Given the description of an element on the screen output the (x, y) to click on. 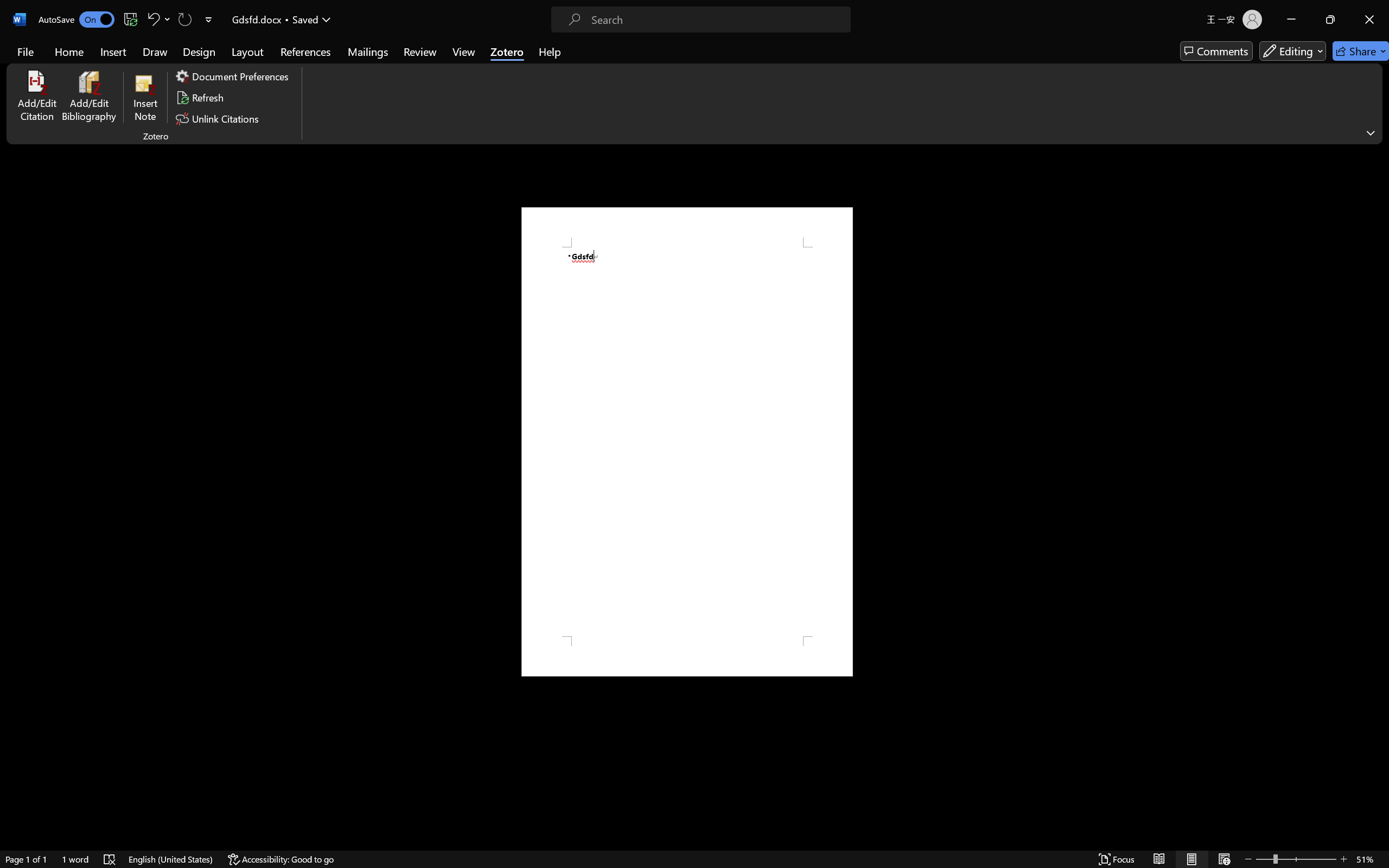
Grow & Turn (506, 60)
Lighten (995, 60)
Row up (1022, 48)
Accessibility Checker Accessibility: Investigate (214, 837)
Split (284, 60)
Swivel (595, 60)
More (1254, 73)
